Given the description of an element on the screen output the (x, y) to click on. 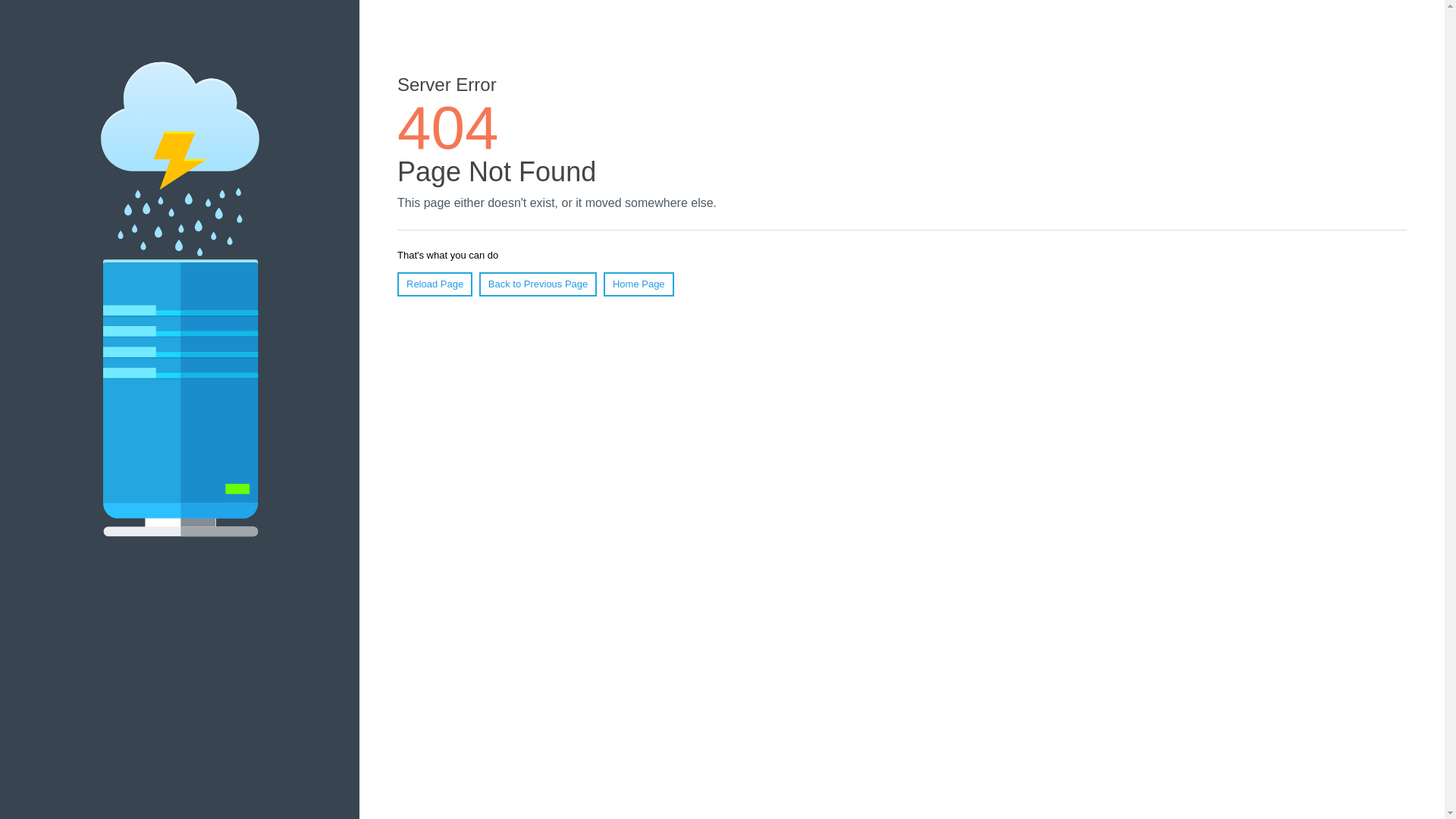
Back to Previous Page (537, 283)
Home Page (639, 283)
Reload Page (434, 283)
